Given the description of an element on the screen output the (x, y) to click on. 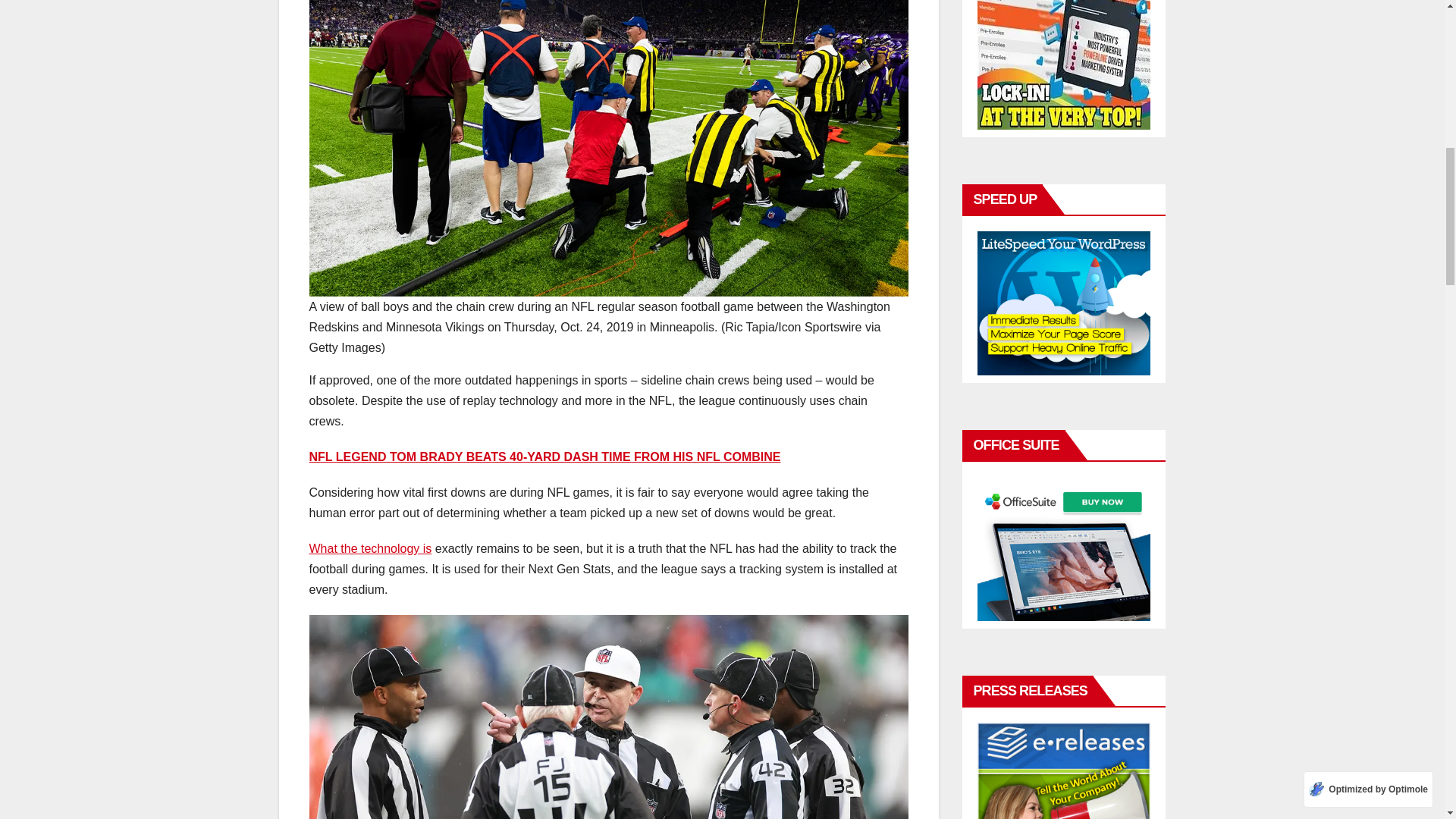
What the technology is (370, 548)
